Given the description of an element on the screen output the (x, y) to click on. 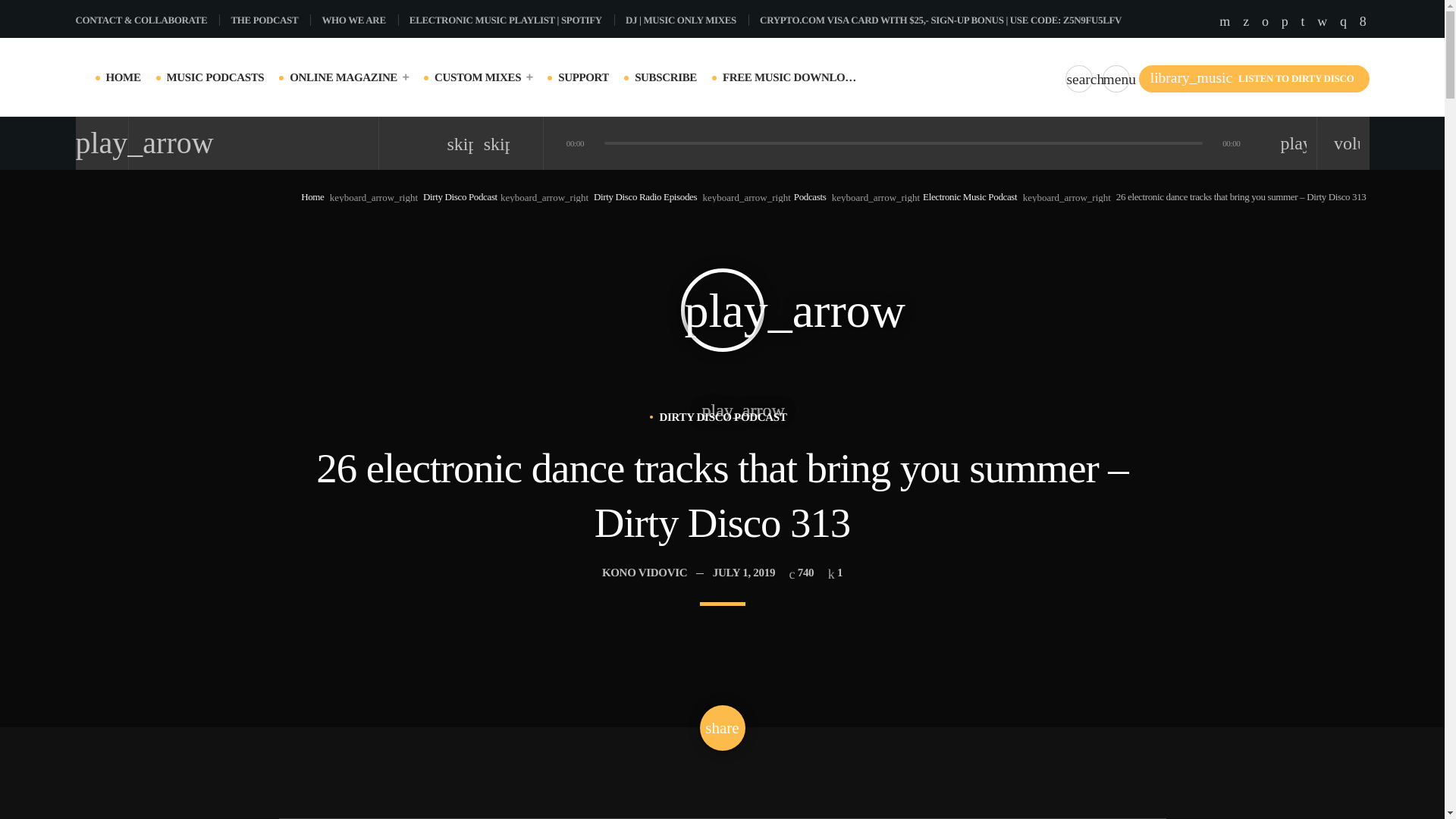
SUBSCRIBE (665, 77)
FREE MUSIC DOWNLOADS (790, 77)
THE PODCAST (270, 19)
ONLINE MAGAZINE (349, 77)
WHO WE ARE (359, 19)
HOME (123, 77)
CUSTOM MIXES (482, 77)
SUPPORT (582, 77)
MUSIC PODCASTS (215, 77)
